Given the description of an element on the screen output the (x, y) to click on. 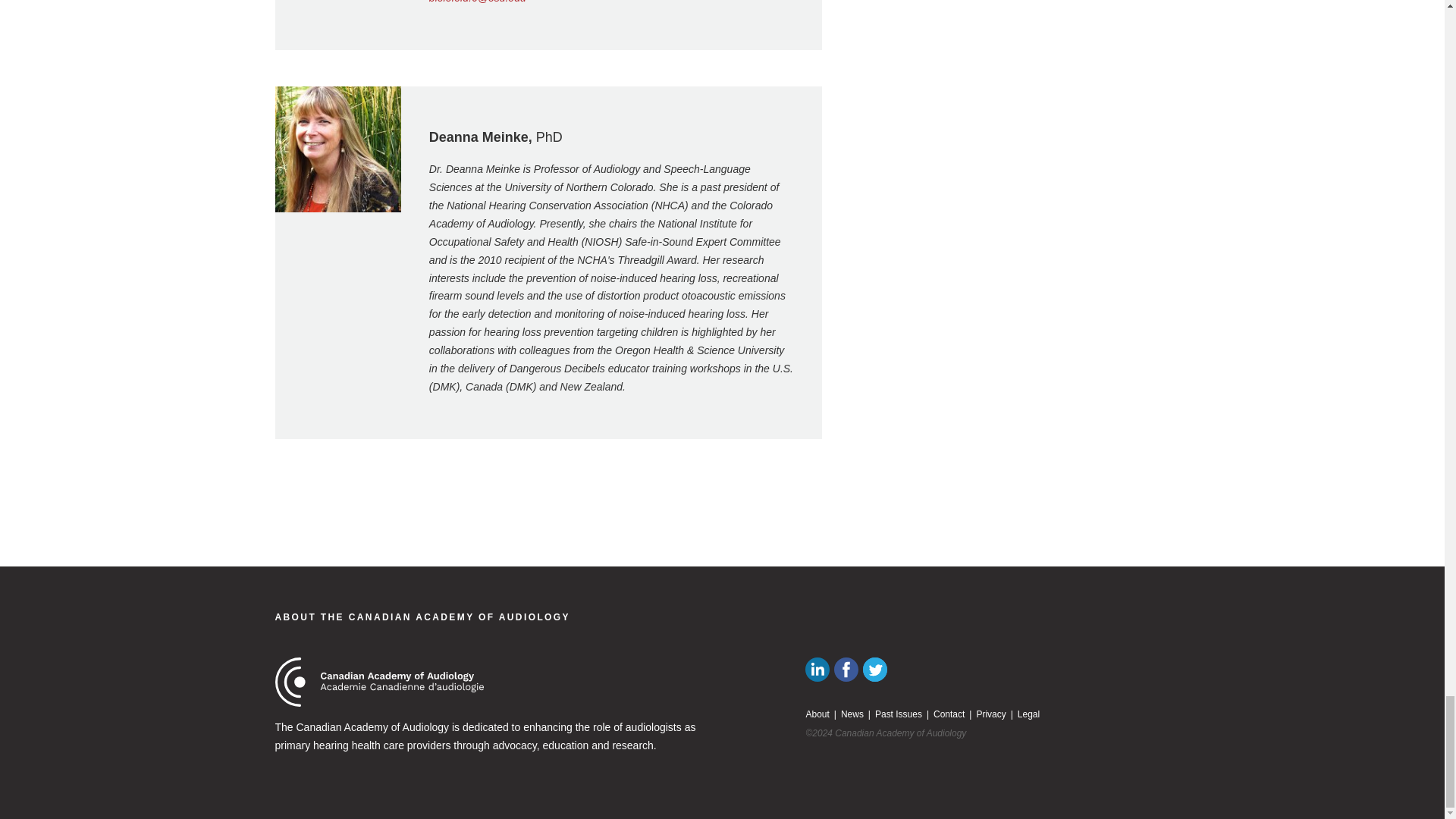
Canadian Audiologists on LinkedIn (817, 669)
Like Canadian Audiologists on Facebook (846, 669)
Follow Canadian Audiologists on Twitter (874, 669)
The Canadian Academy of Audiology (422, 616)
The Canadian Academy of Audiology (379, 681)
